Given the description of an element on the screen output the (x, y) to click on. 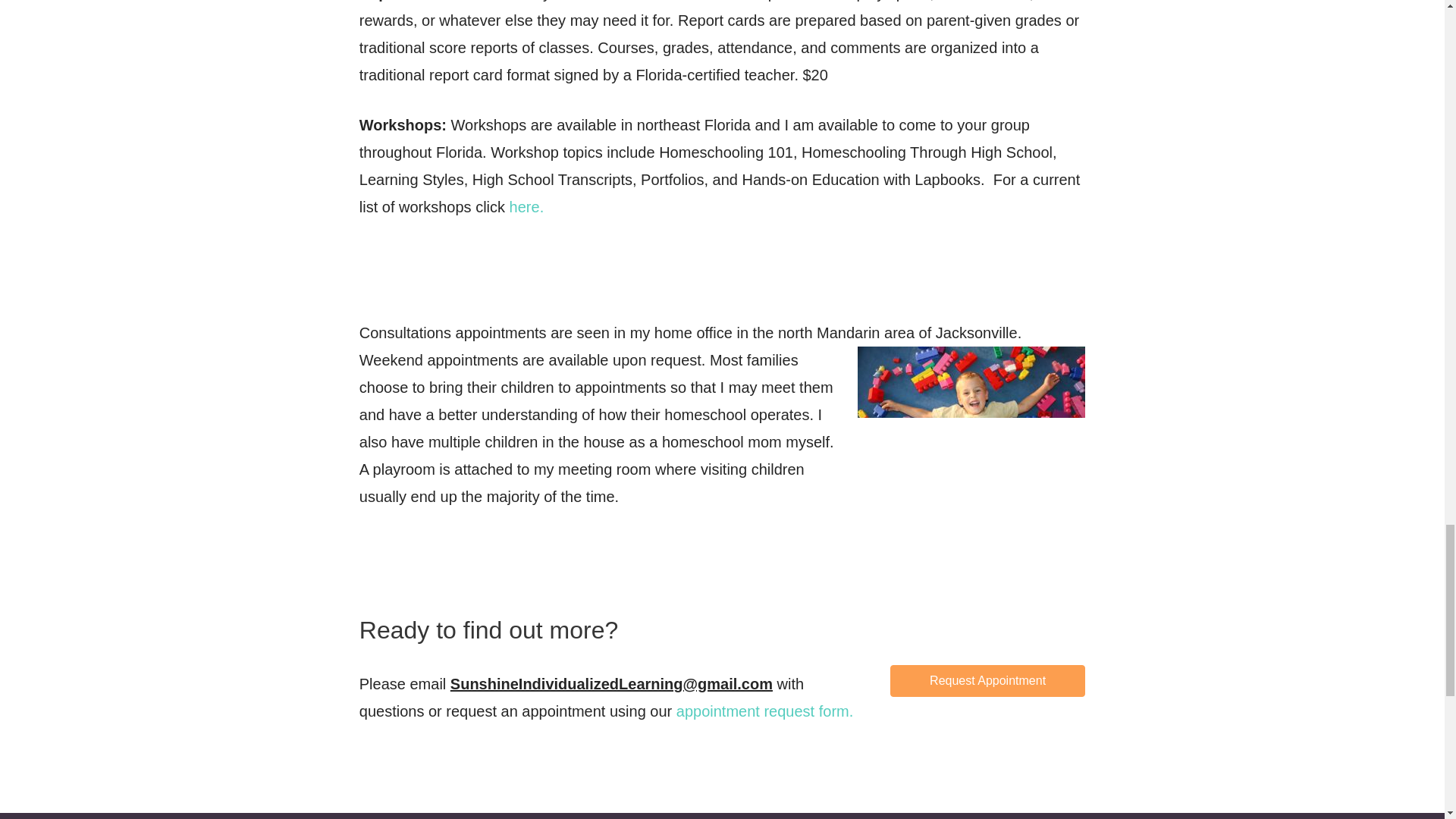
here. (526, 207)
Request Appointment (986, 680)
appointment request form. (765, 710)
